Given the description of an element on the screen output the (x, y) to click on. 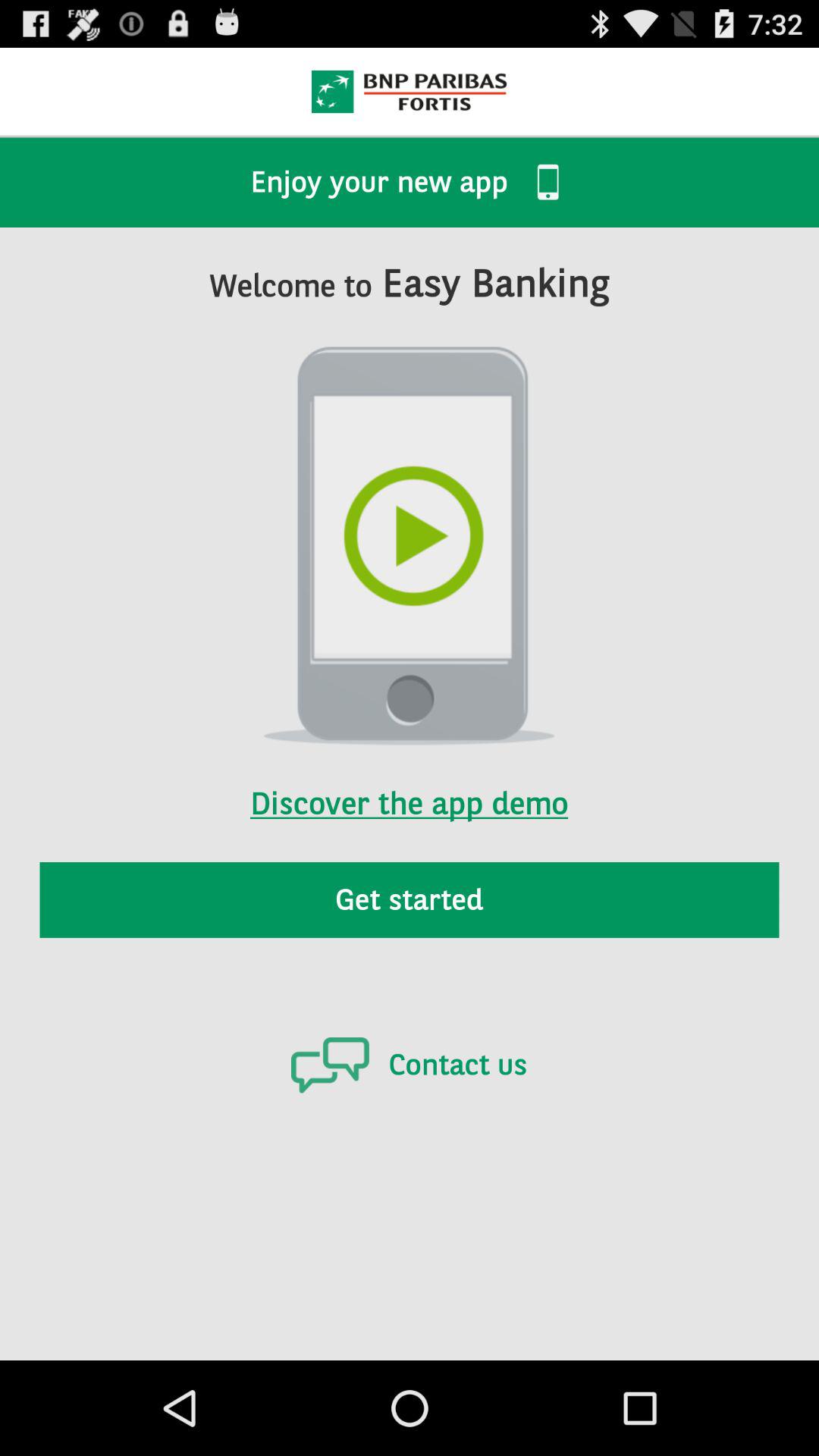
launch icon at the bottom (409, 1065)
